Given the description of an element on the screen output the (x, y) to click on. 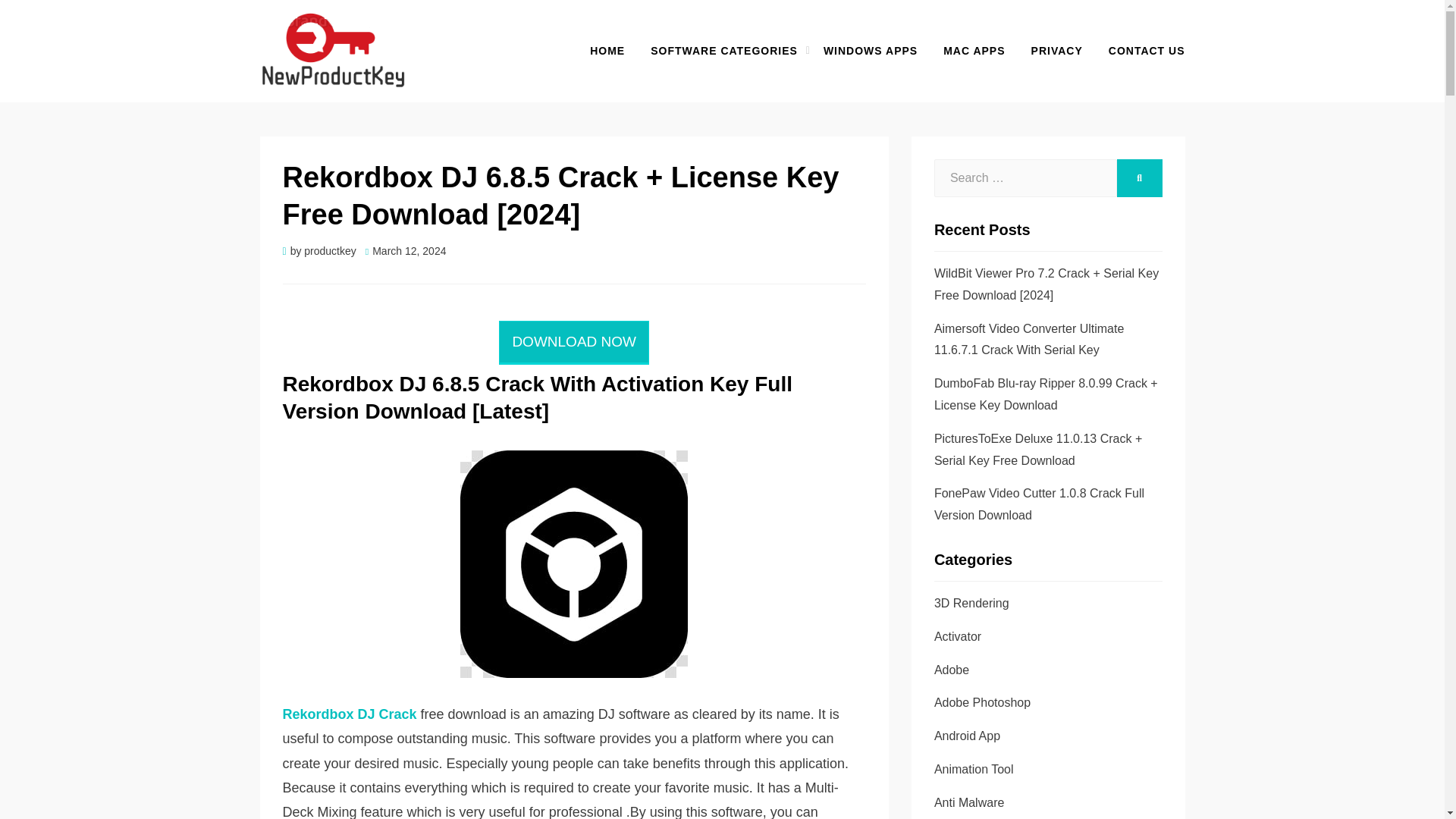
SOFTWARE CATEGORIES (723, 50)
Rekordbox DJ Crack (349, 713)
HOME (606, 50)
DOWNLOAD NOW (574, 342)
March 12, 2024 (405, 250)
CONTACT US (1140, 50)
WINDOWS APPS (870, 50)
PRIVACY (1056, 50)
productkey (329, 250)
DOWNLOAD NOW (574, 341)
MAC APPS (973, 50)
